Given the description of an element on the screen output the (x, y) to click on. 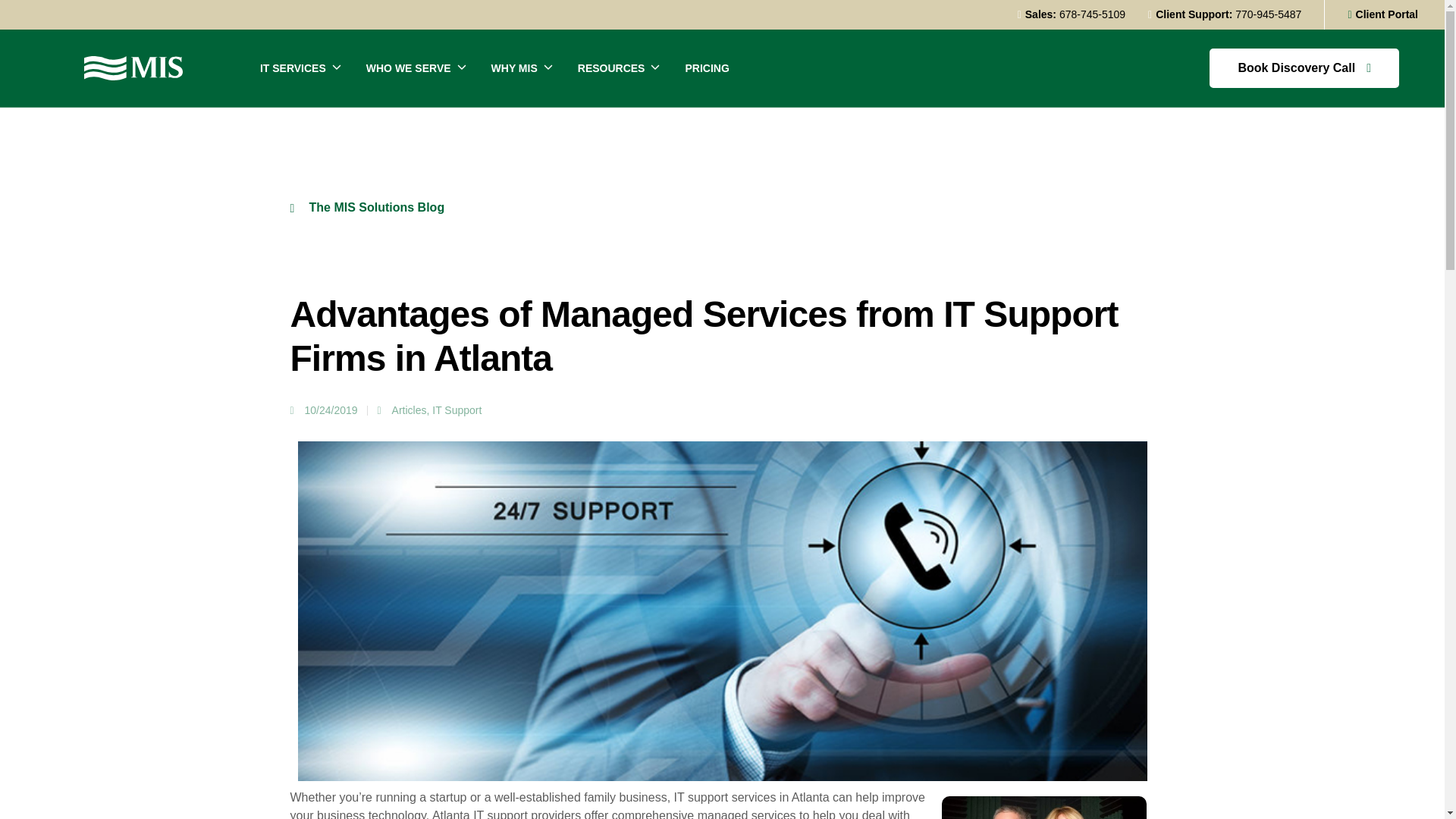
Sales: 678-745-5109 (1071, 14)
Client Support: 770-945-5487 (1225, 14)
Client Portal (1382, 14)
